Given the description of an element on the screen output the (x, y) to click on. 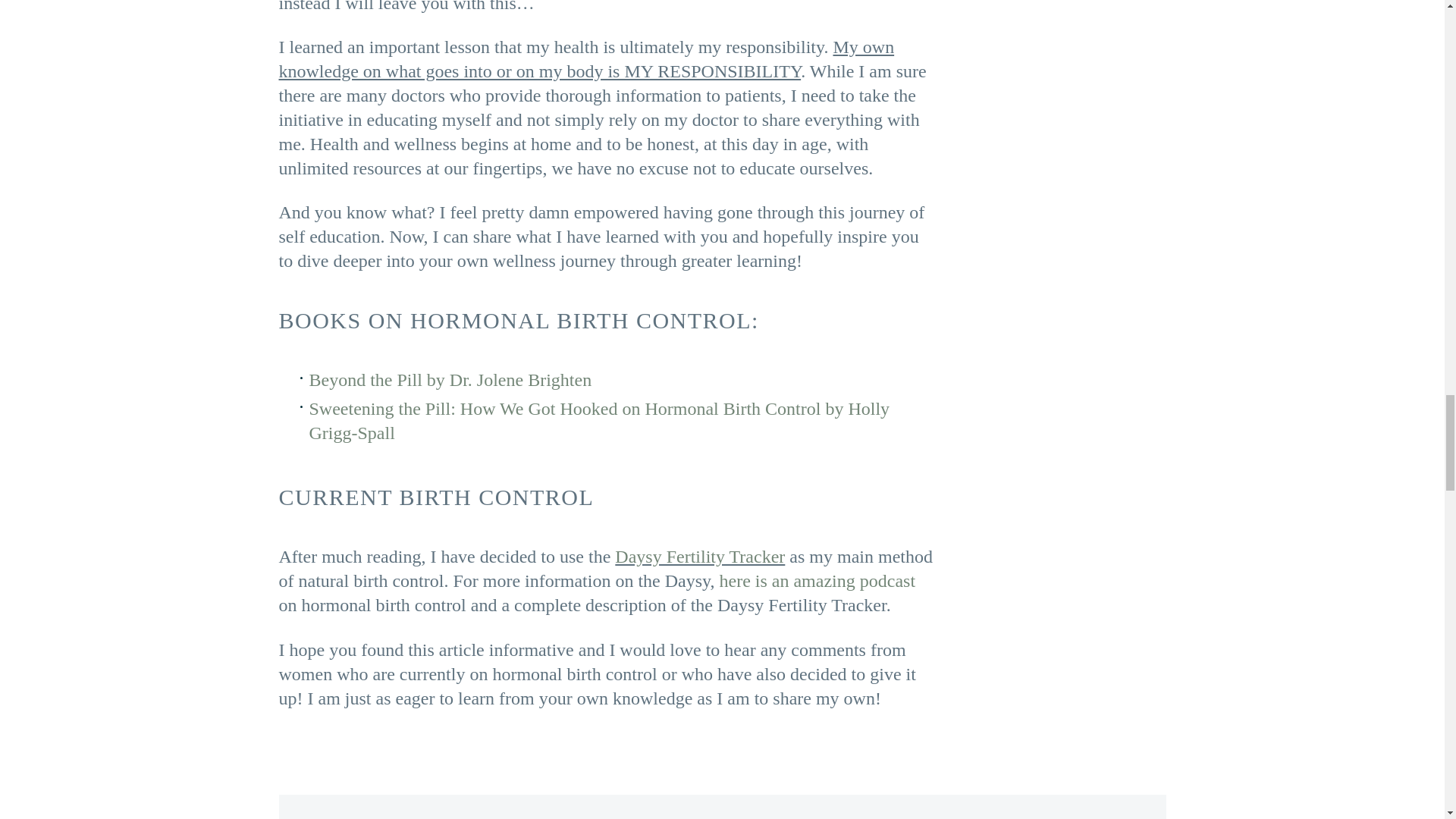
Daysy Fertility Tracker (699, 556)
Beyond the Pill by Dr. Jolene Brighten (450, 379)
here is an amazing podcast (817, 580)
